Given the description of an element on the screen output the (x, y) to click on. 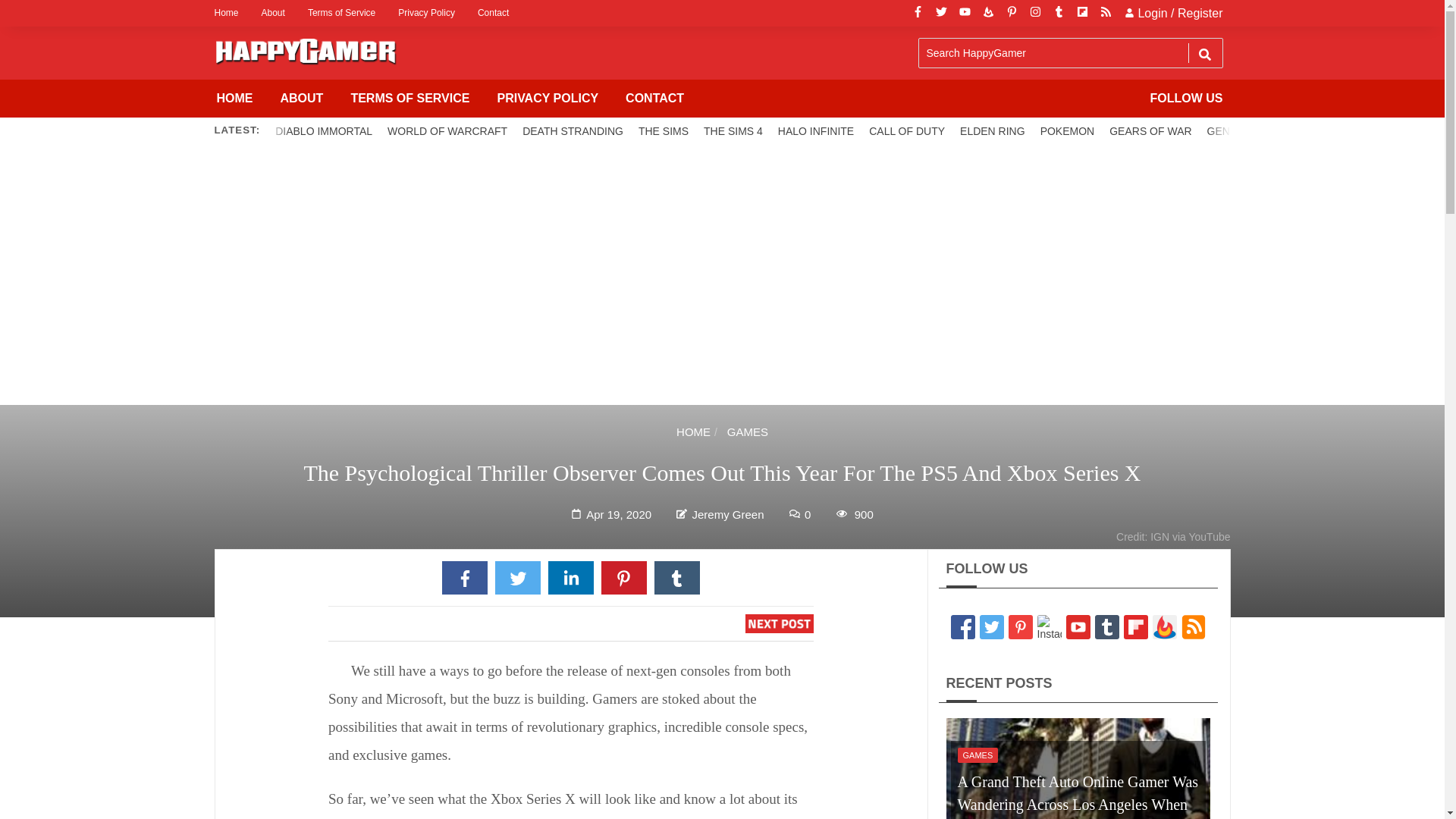
ABOUT (301, 98)
DEATH STRANDING (572, 130)
Privacy Policy (426, 13)
Contact (492, 13)
Tumblr (1058, 13)
Twitter (941, 13)
Home (231, 13)
FOLLOW US (1186, 98)
Terms of Service (342, 13)
TERMS OF SERVICE (409, 98)
About (273, 13)
CONTACT (654, 98)
Terms of Service (342, 13)
Instagram (1034, 13)
THE SIMS 4 (732, 130)
